Given the description of an element on the screen output the (x, y) to click on. 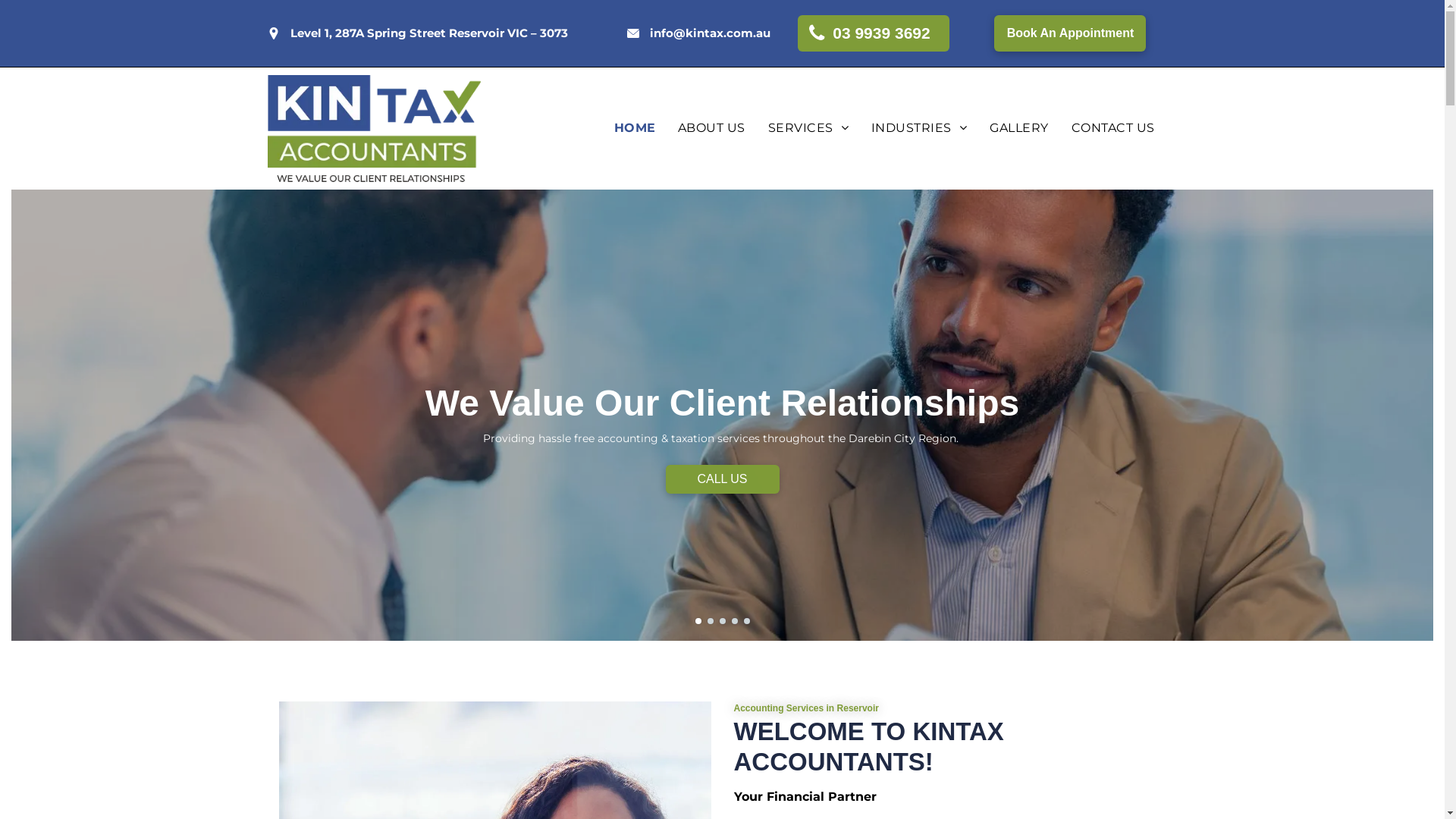
ABOUT US Element type: text (711, 128)
CALL US Element type: text (722, 479)
GALLERY Element type: text (1018, 128)
03 9939 3692 Element type: text (873, 33)
Kintax Accountants Element type: hover (373, 128)
INDUSTRIES Element type: text (918, 128)
SERVICES Element type: text (807, 128)
CONTACT US Element type: text (1113, 128)
HOME Element type: text (634, 128)
info@kintax.com.au Element type: text (709, 32)
Book An Appointment Element type: text (1069, 33)
